Given the description of an element on the screen output the (x, y) to click on. 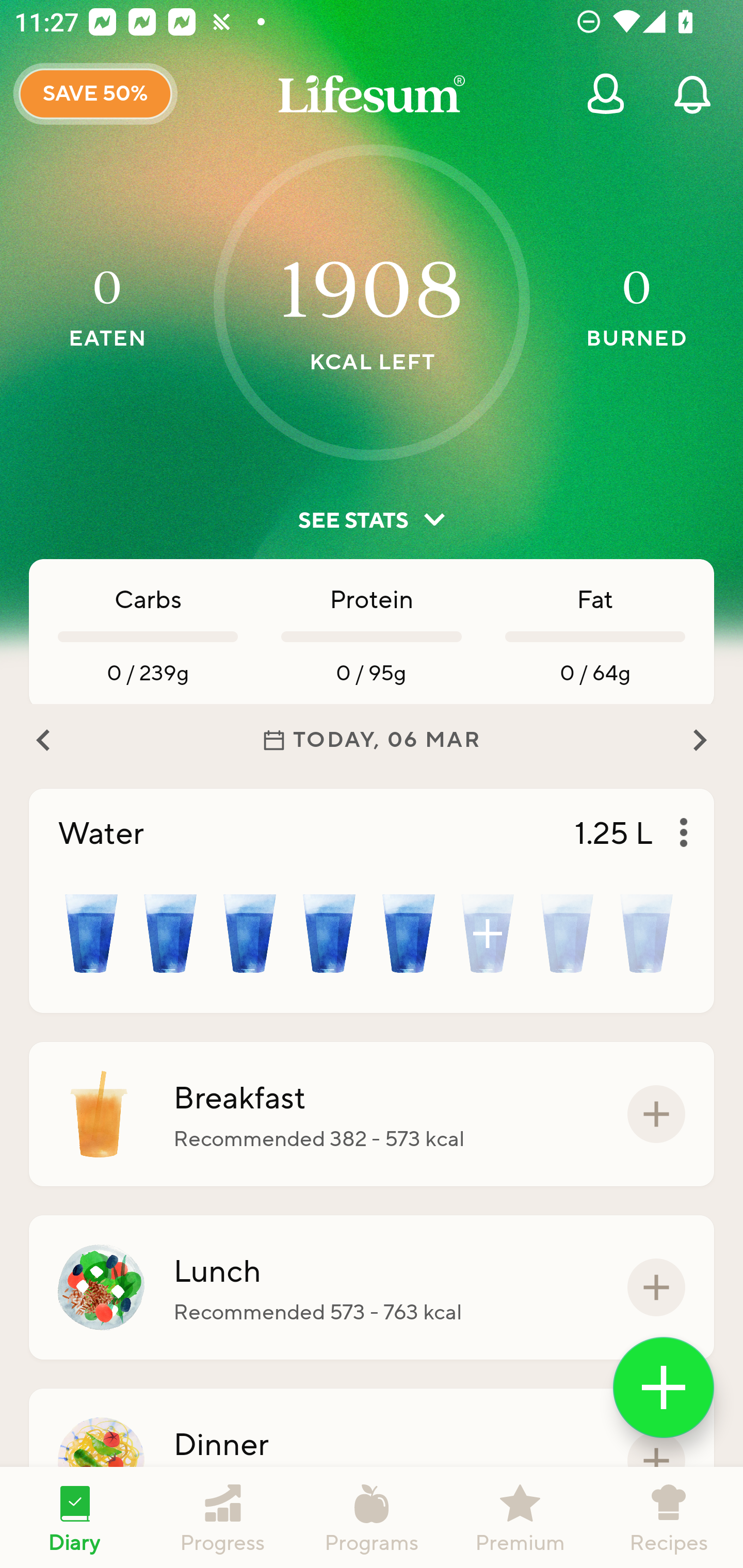
SEE STATS (371, 519)
TODAY, 06 MAR (371, 739)
Breakfast Recommended 382 - 573 kcal (371, 1113)
Lunch Recommended 573 - 763 kcal (371, 1287)
Dinner Recommended 573 - 763 kcal (371, 1461)
Progress (222, 1517)
Programs (371, 1517)
Premium (519, 1517)
Recipes (668, 1517)
